Given the description of an element on the screen output the (x, y) to click on. 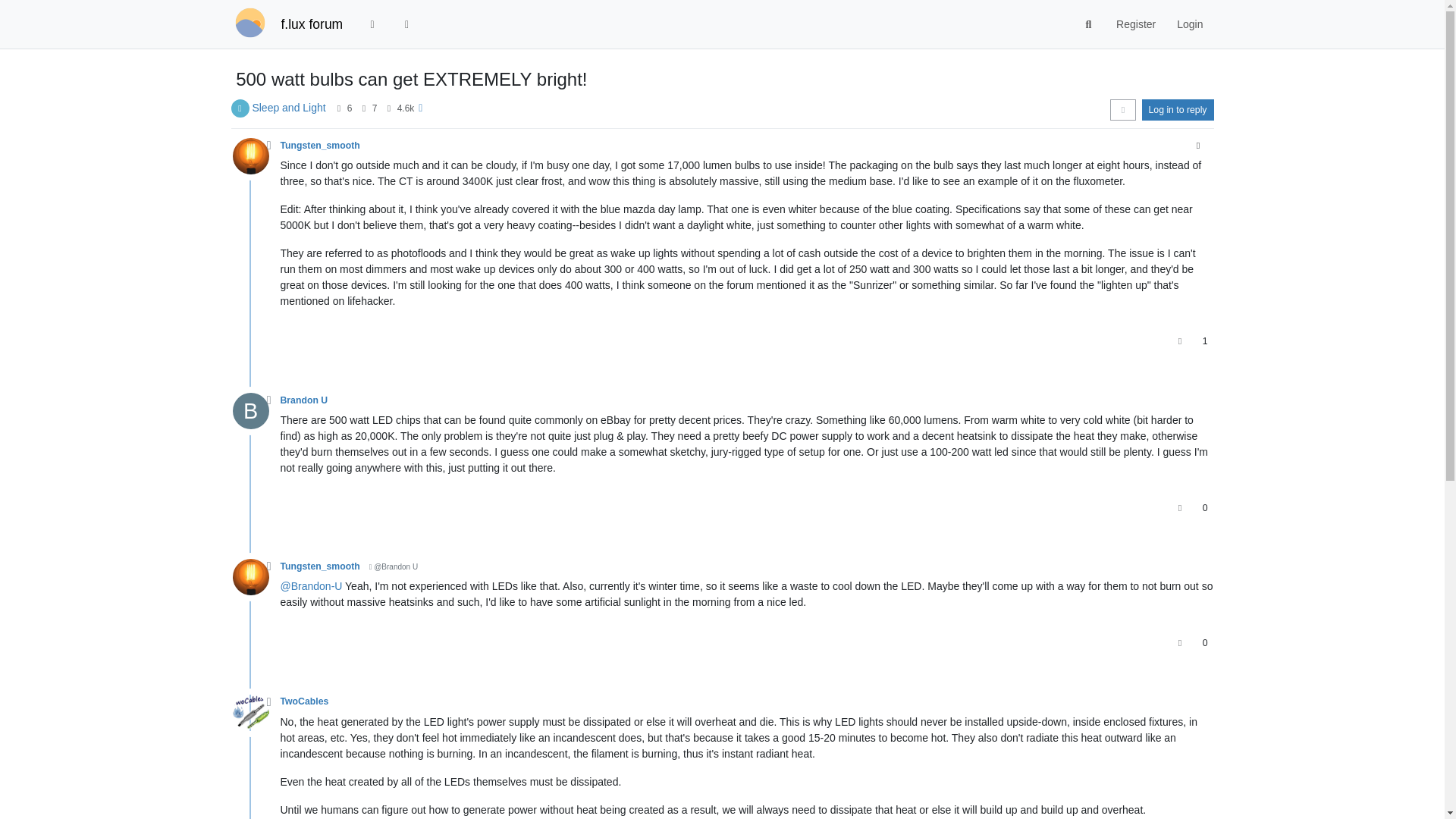
4563 (405, 108)
Log in to reply (1177, 109)
Login (1189, 24)
Recent (372, 24)
B (255, 414)
f.lux forum (311, 24)
Views (388, 108)
Posters (338, 108)
Posts (363, 108)
Register (1135, 24)
